Given the description of an element on the screen output the (x, y) to click on. 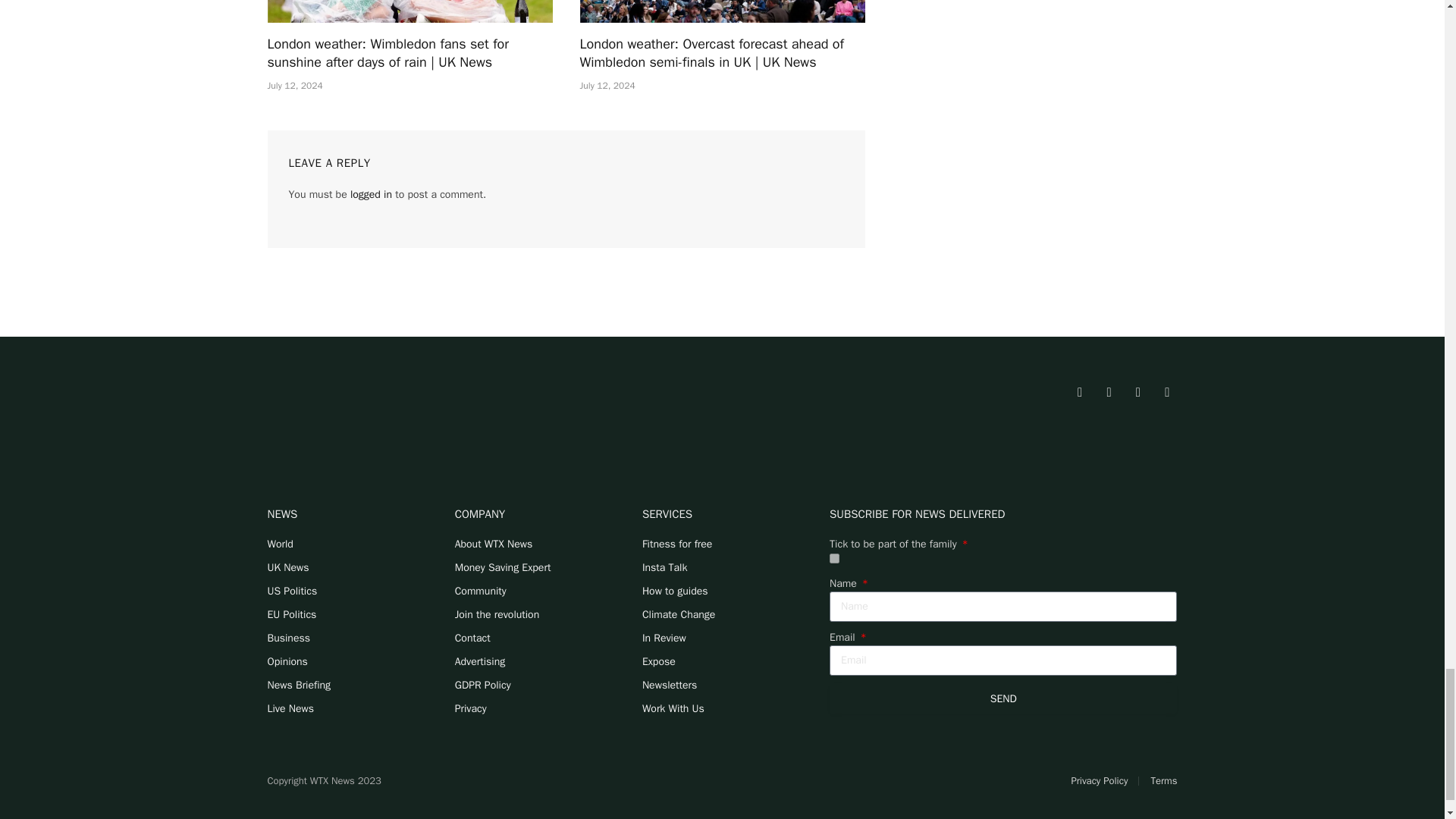
on (834, 558)
